Given the description of an element on the screen output the (x, y) to click on. 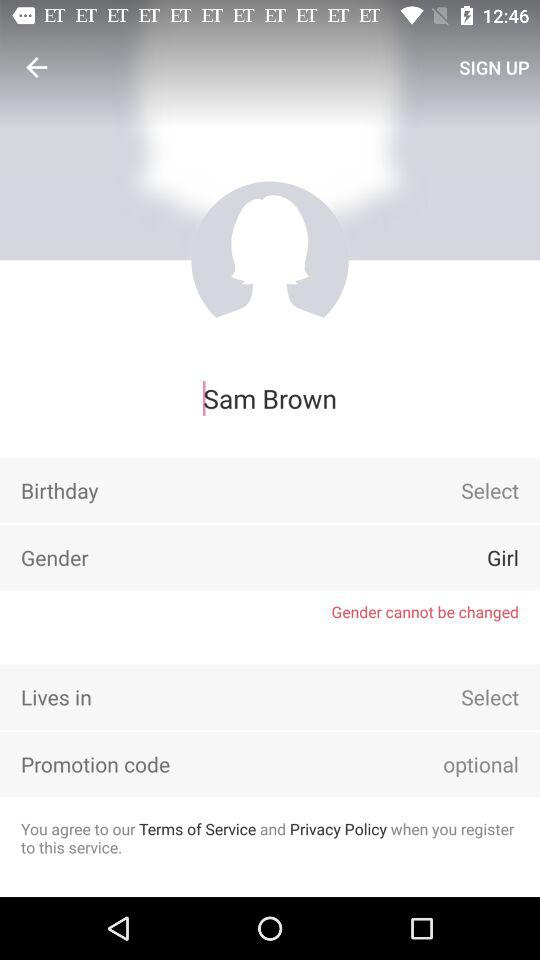
enter promotion code (453, 764)
